Given the description of an element on the screen output the (x, y) to click on. 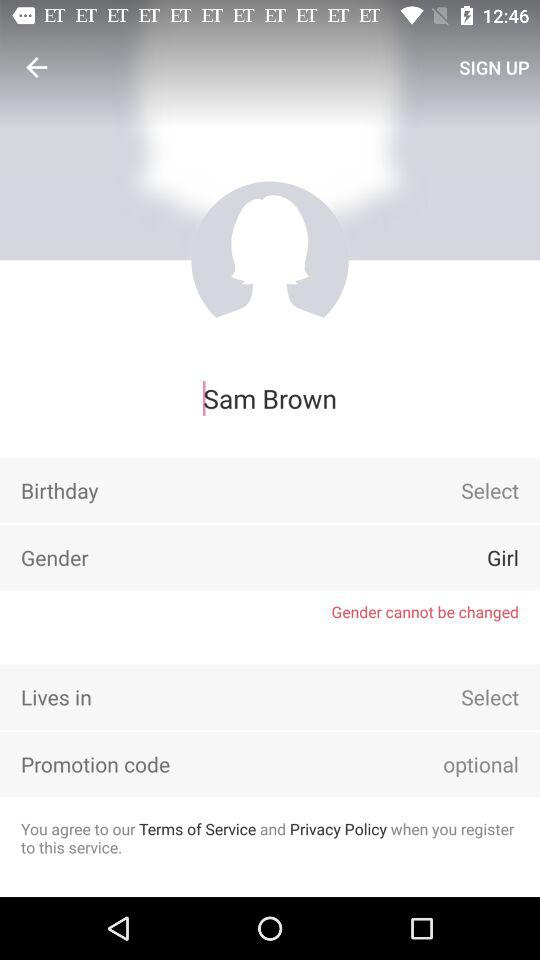
enter promotion code (453, 764)
